Given the description of an element on the screen output the (x, y) to click on. 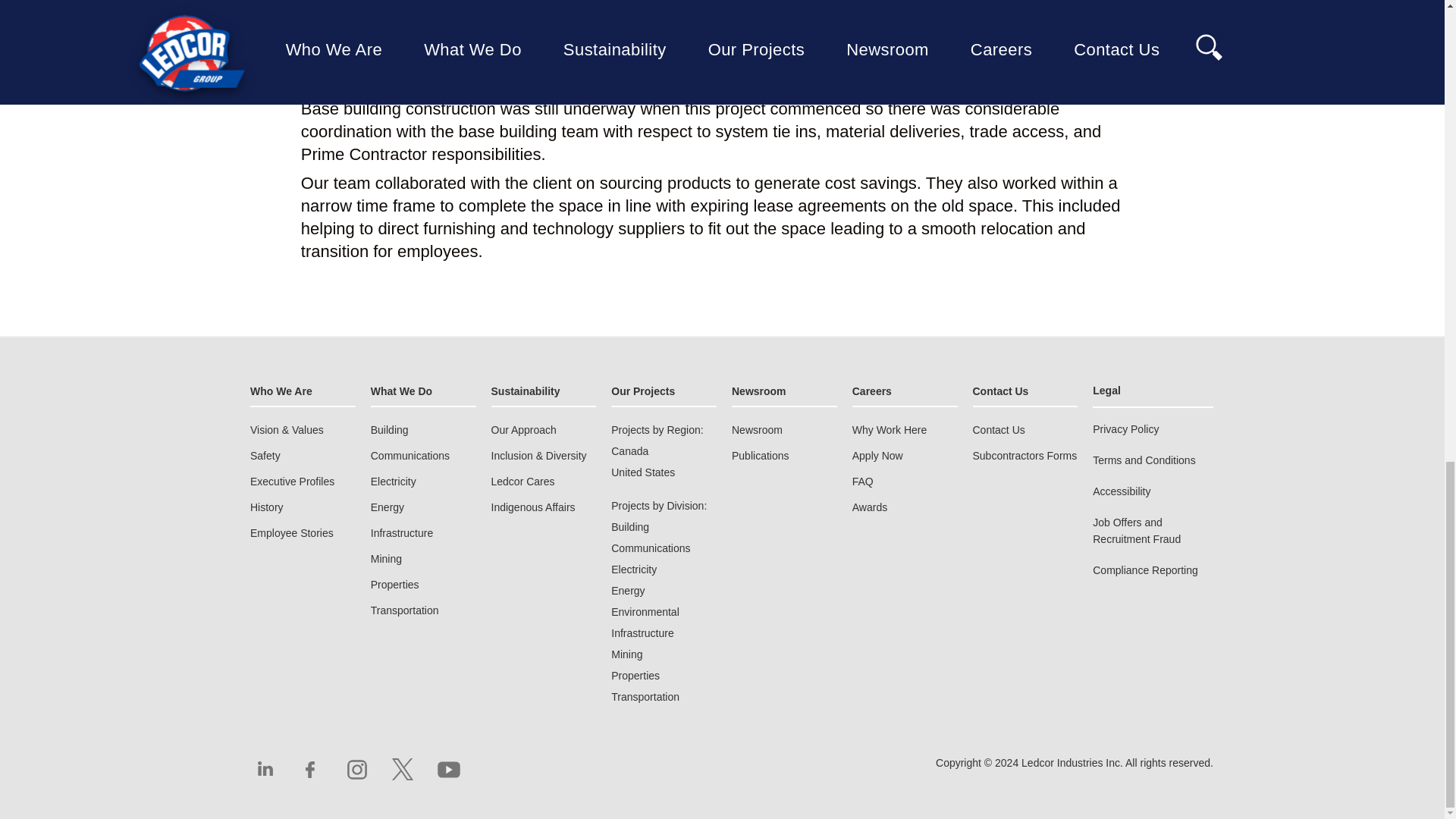
Compliance Reporting (1145, 569)
